Given the description of an element on the screen output the (x, y) to click on. 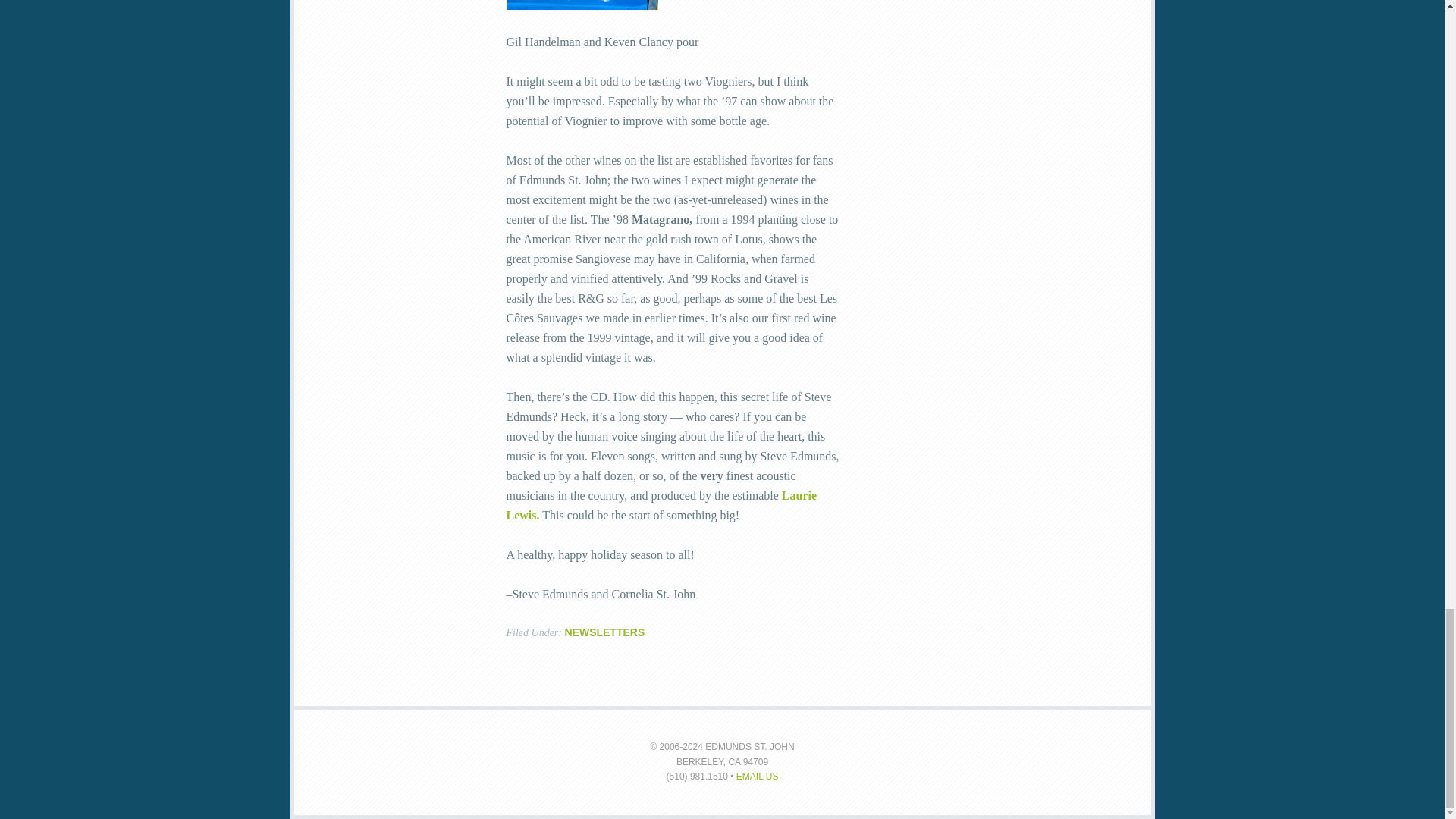
Laurie Lewis. (661, 504)
NEWSLETTERS (604, 632)
